Given the description of an element on the screen output the (x, y) to click on. 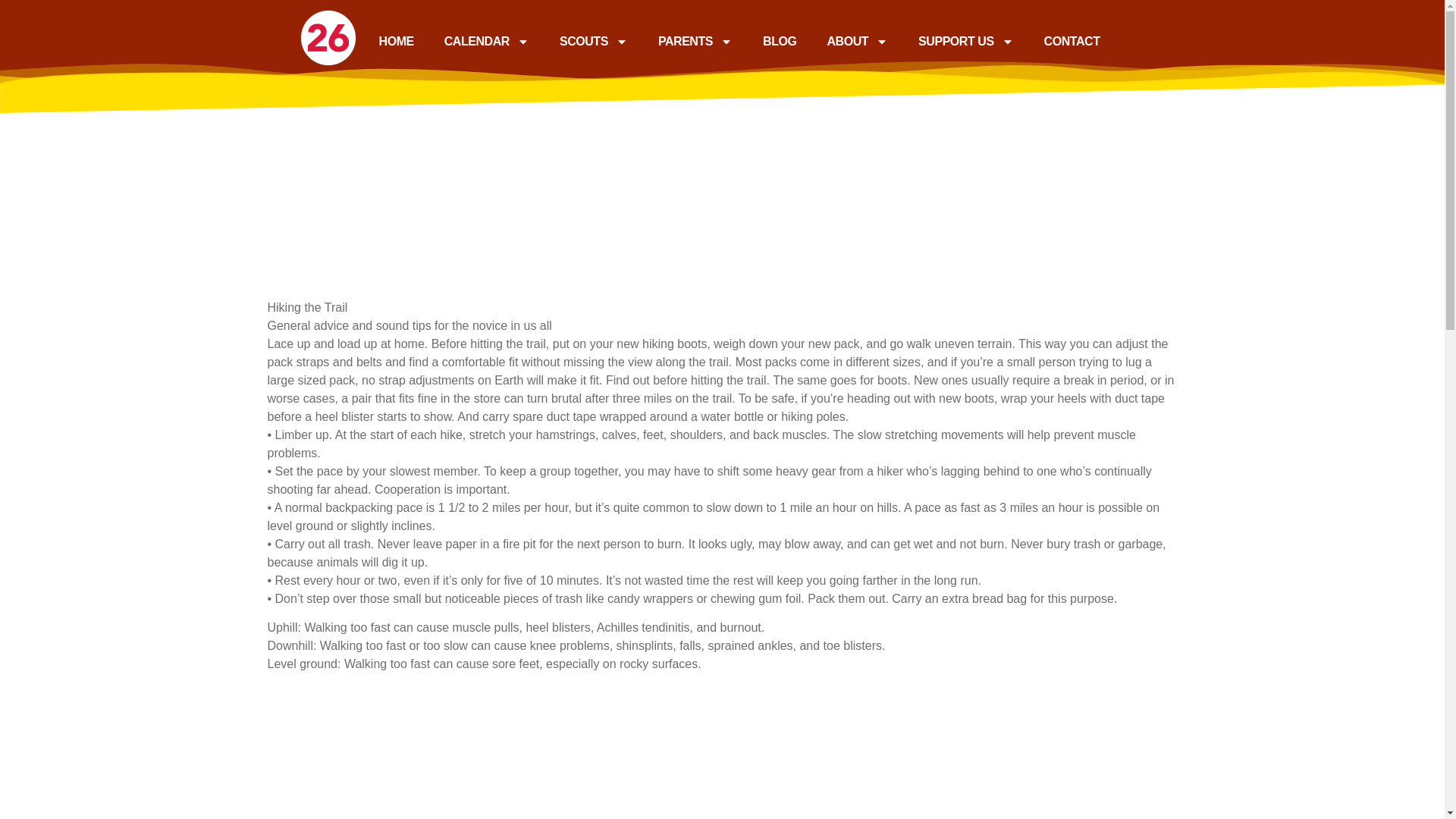
CONTACT (1072, 41)
ABOUT (856, 41)
SUPPORT US (965, 41)
CALENDAR (486, 41)
BLOG (778, 41)
cropped-troop26-icon.png (327, 37)
PARENTS (694, 41)
SCOUTS (593, 41)
HOME (396, 41)
